Given the description of an element on the screen output the (x, y) to click on. 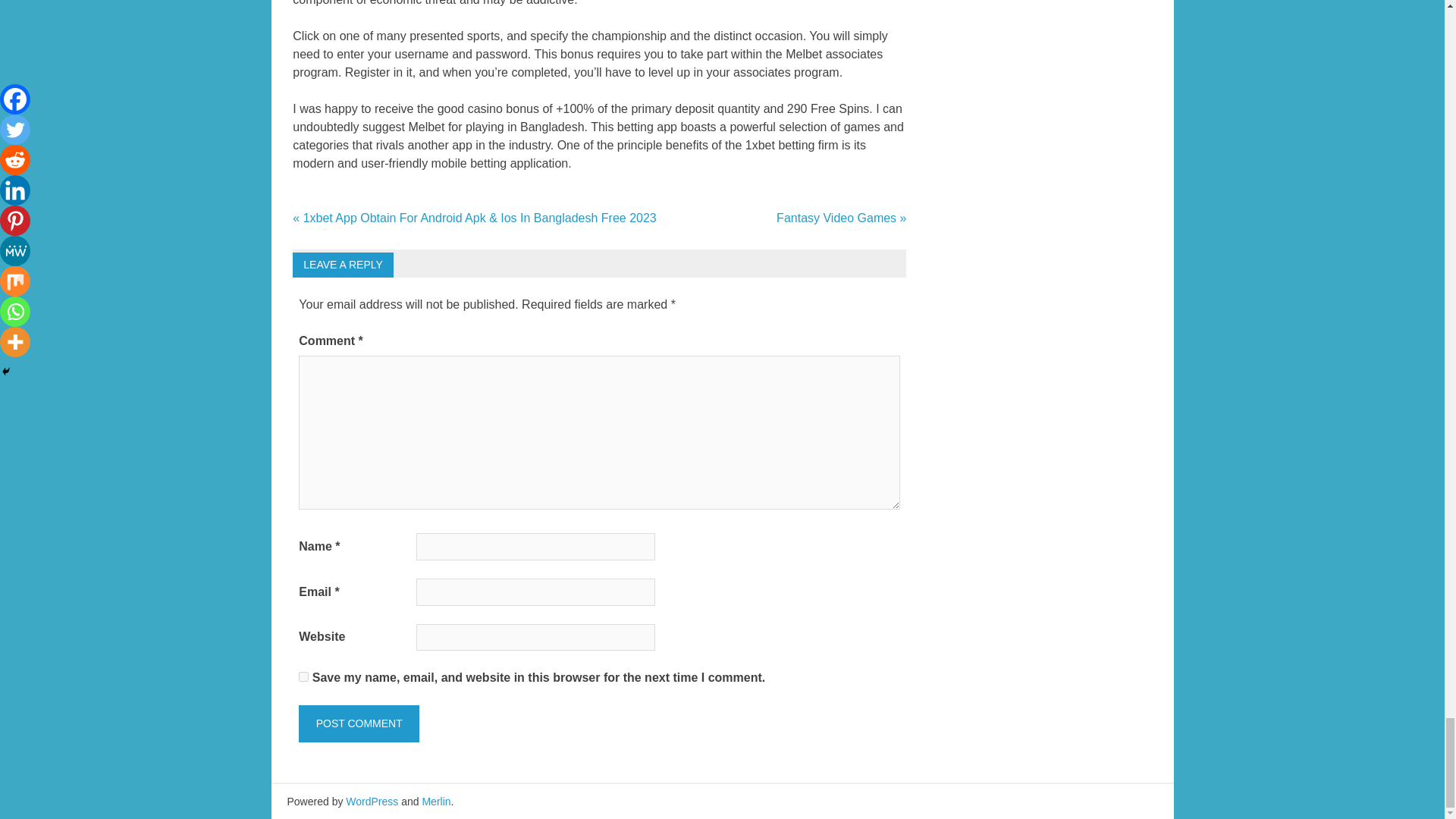
WordPress (371, 801)
Post Comment (358, 723)
Merlin (435, 801)
Post Comment (358, 723)
yes (303, 676)
